Given the description of an element on the screen output the (x, y) to click on. 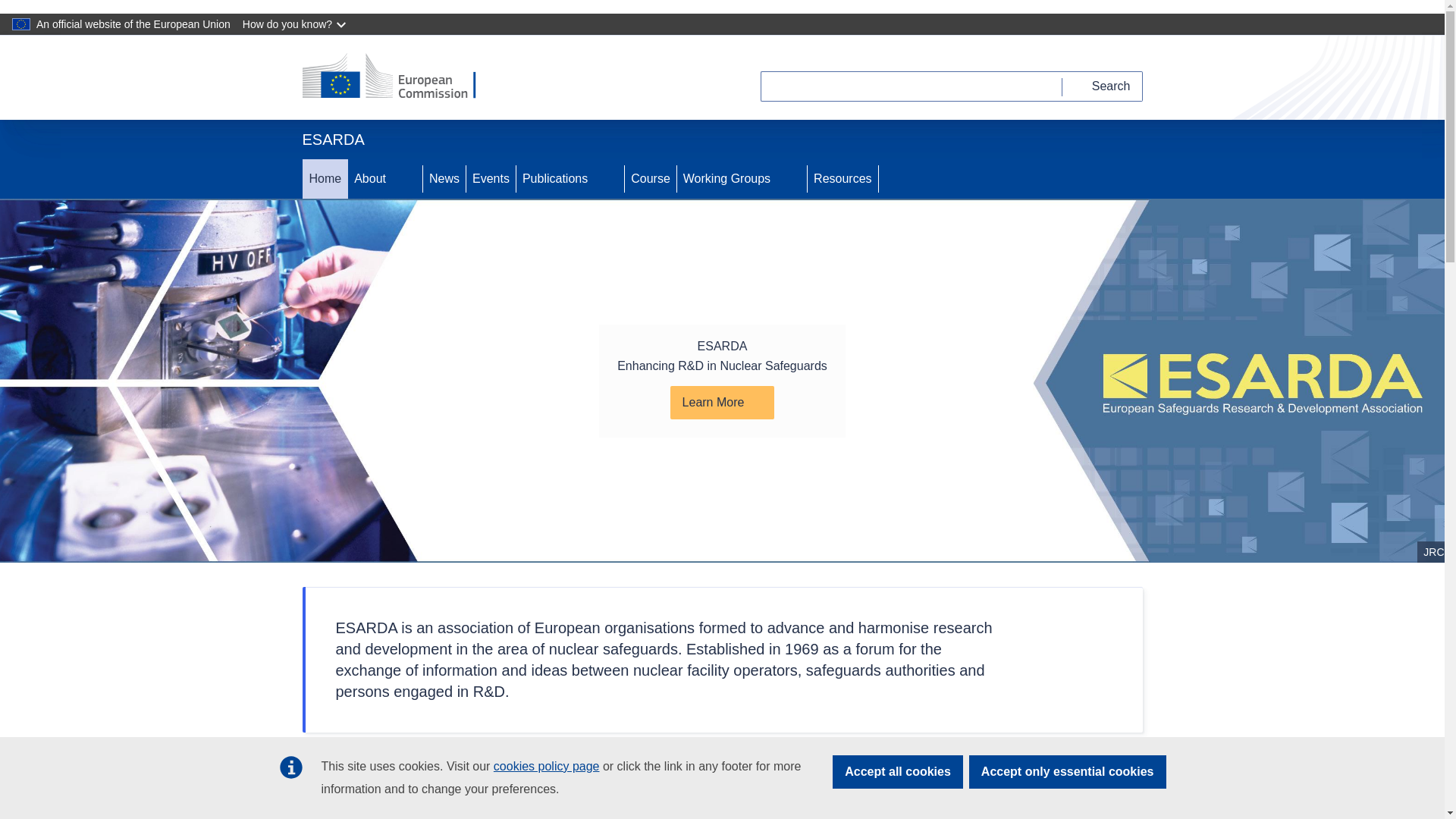
Working Groups (725, 178)
Home (324, 178)
European Commission (399, 77)
How do you know? (295, 24)
Search (1102, 86)
Accept only essential cookies (1067, 771)
News (444, 178)
Accept all cookies (897, 771)
Course (650, 178)
